Given the description of an element on the screen output the (x, y) to click on. 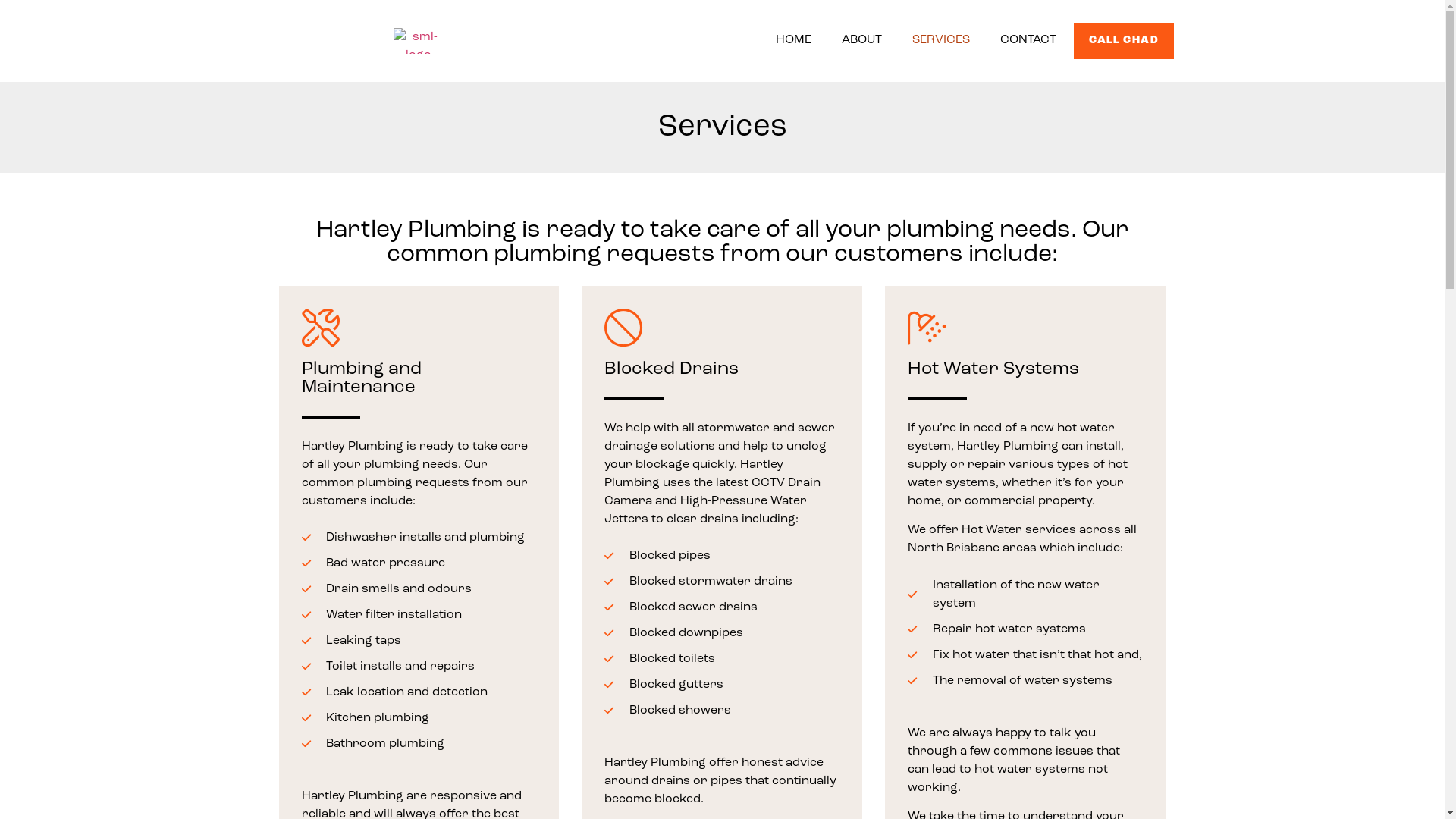
CALL CHAD Element type: text (1123, 40)
CONTACT Element type: text (1027, 40)
ABOUT Element type: text (861, 40)
SERVICES Element type: text (940, 40)
HOME Element type: text (793, 40)
